Given the description of an element on the screen output the (x, y) to click on. 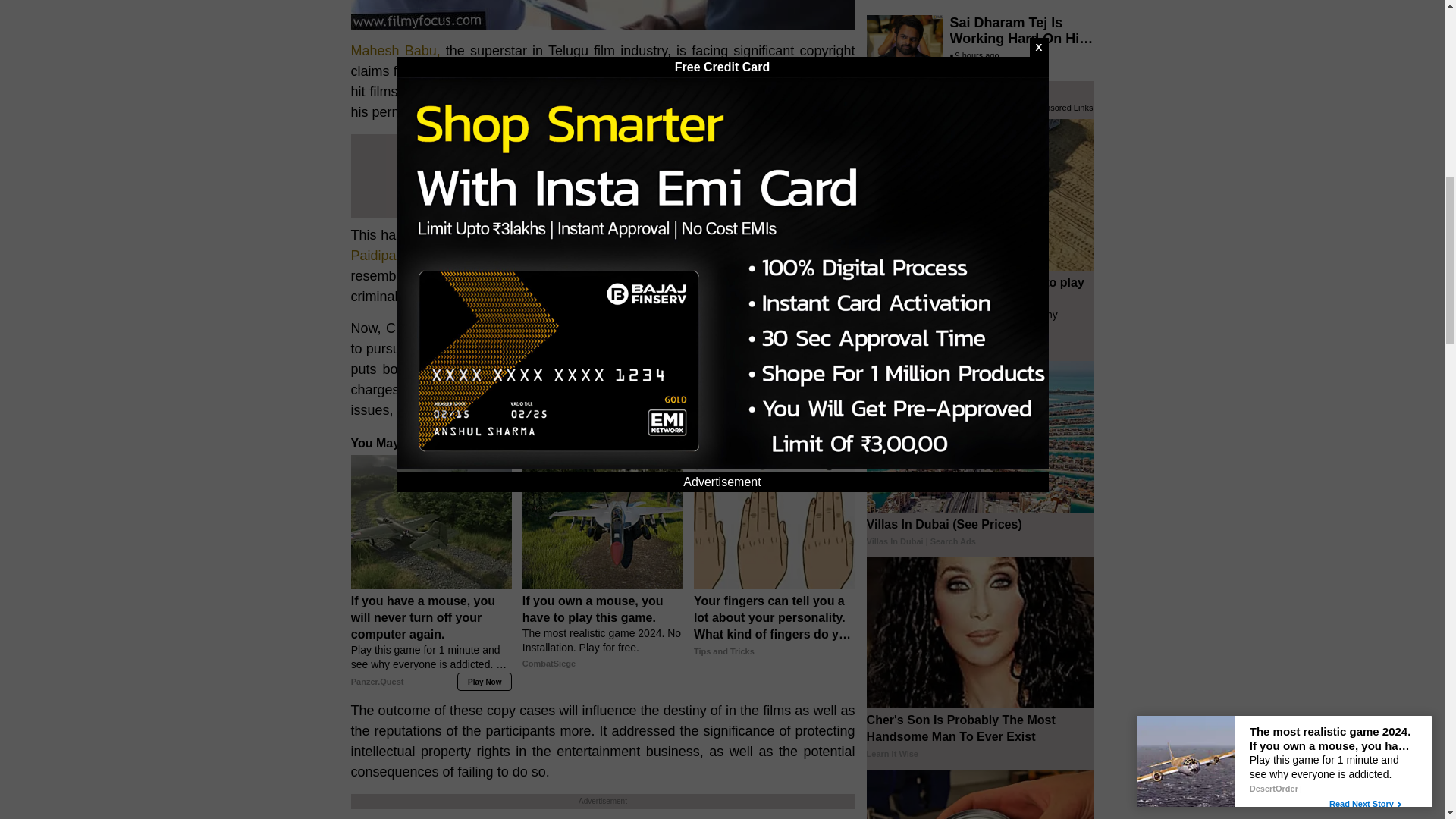
Vamshi Paidipally (602, 244)
Mahesh Babu, (394, 50)
by Taboola (833, 441)
Koratala Siva (737, 234)
Maharshi (556, 91)
Srimanthudu (448, 91)
